Given the description of an element on the screen output the (x, y) to click on. 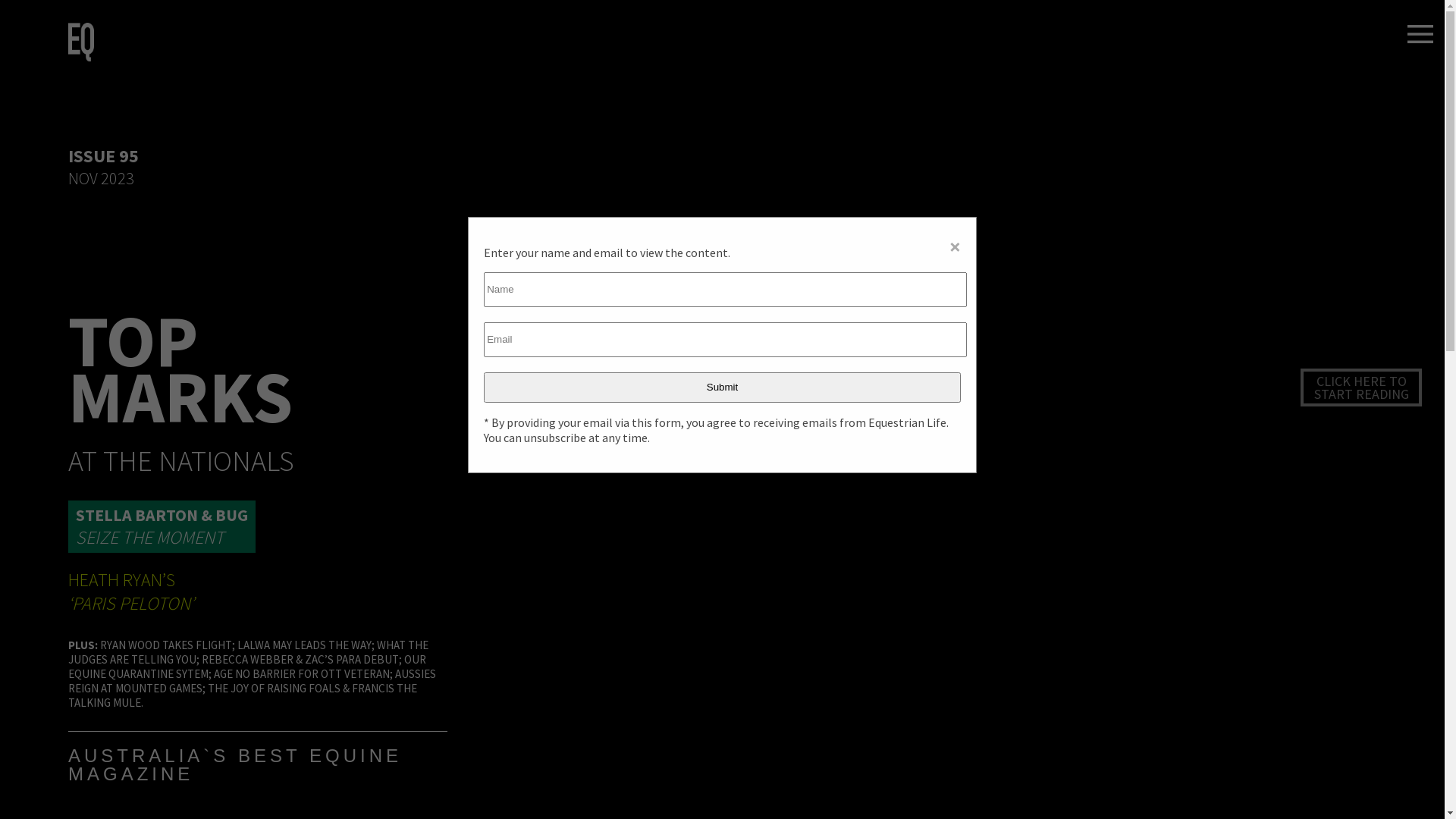
Submit Element type: text (721, 387)
